Given the description of an element on the screen output the (x, y) to click on. 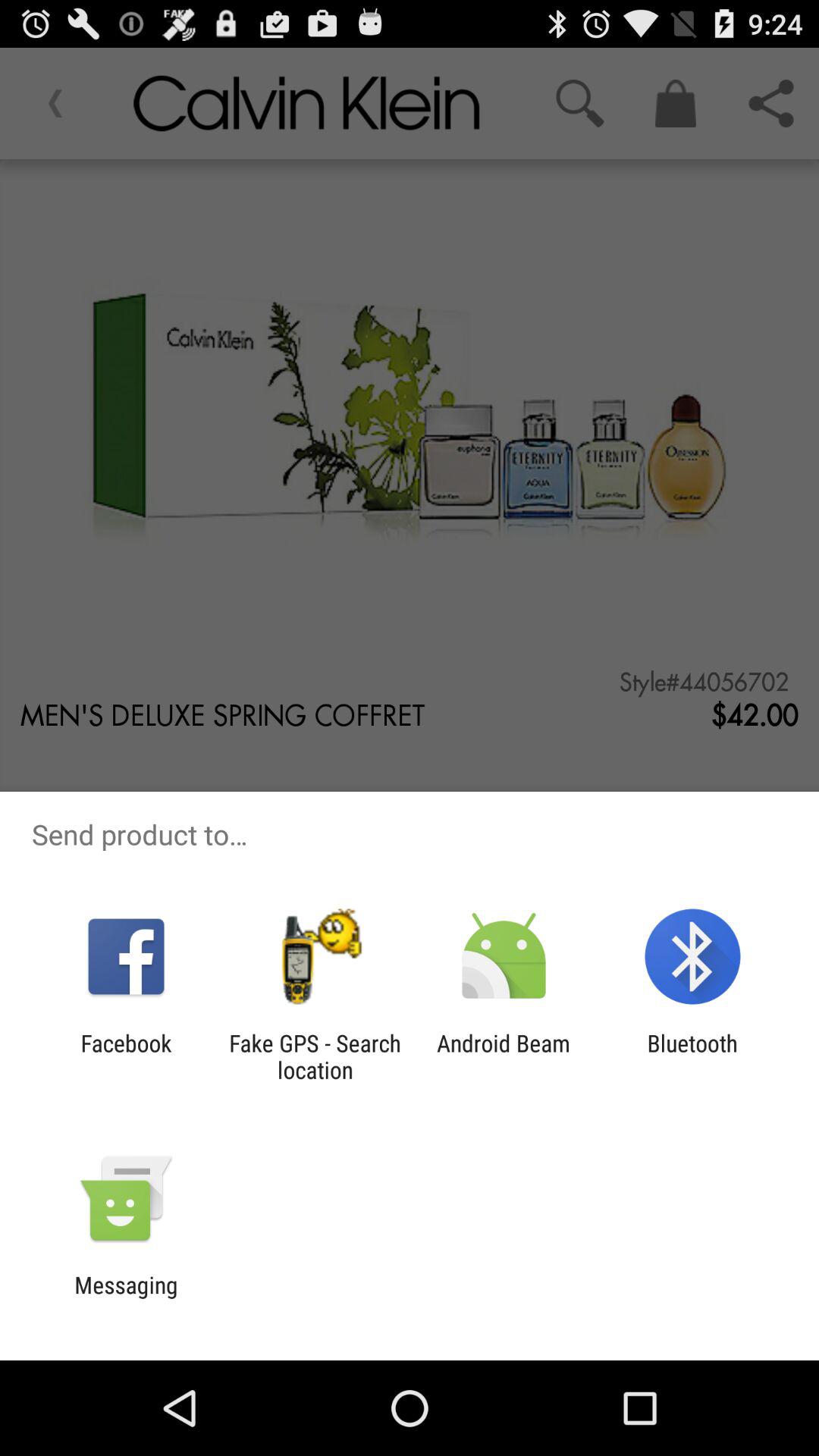
select android beam (503, 1056)
